Given the description of an element on the screen output the (x, y) to click on. 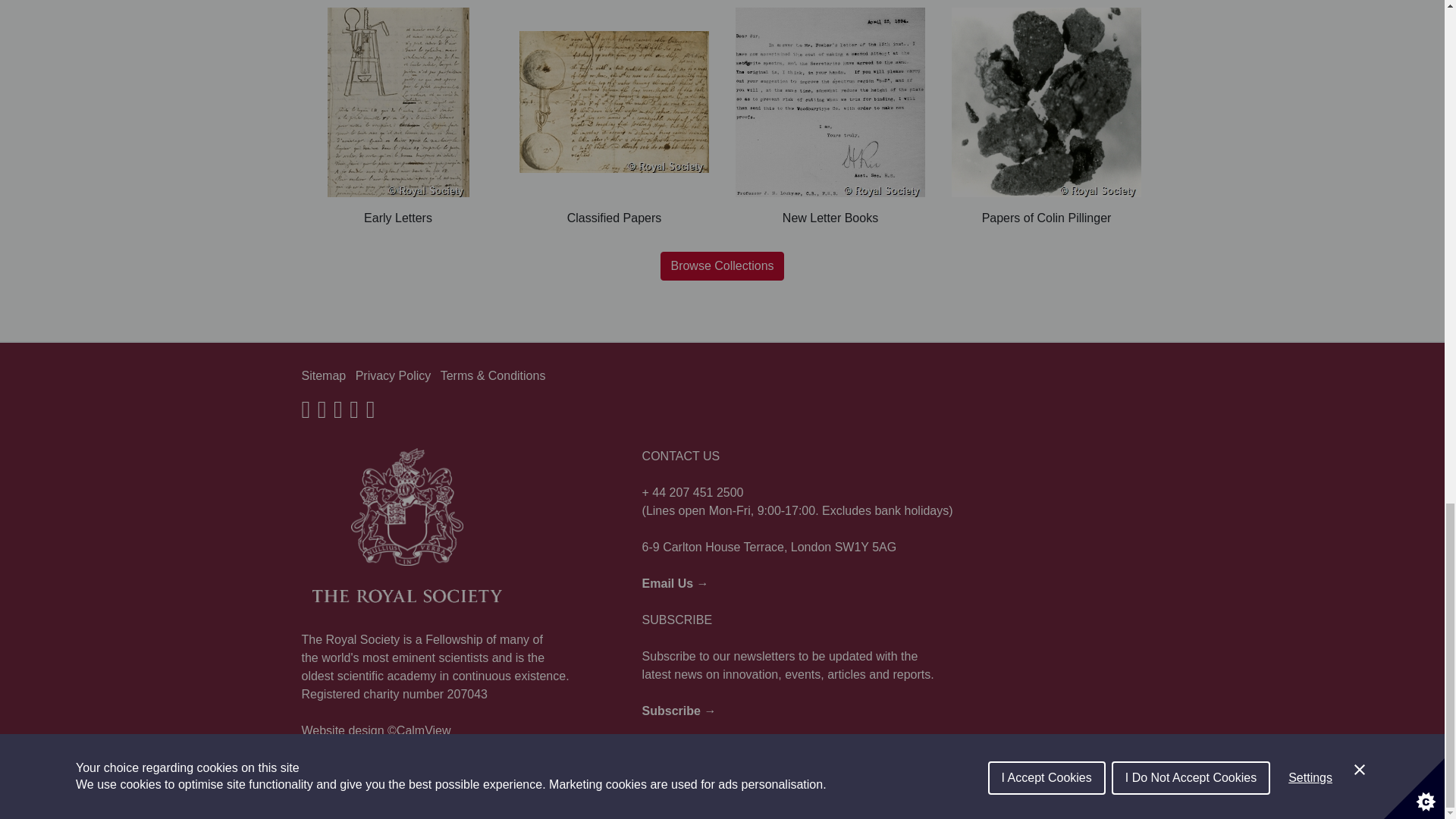
New Letter Books (830, 117)
Early Letters (398, 117)
instagram (337, 413)
facebook (306, 413)
twitter (321, 413)
linkedin (370, 413)
Papers of Colin Pillinger (1045, 117)
Sitemap (323, 375)
Browse Collections (722, 265)
youtube (353, 413)
Privacy Policy (392, 375)
Classified Papers (613, 117)
